Given the description of an element on the screen output the (x, y) to click on. 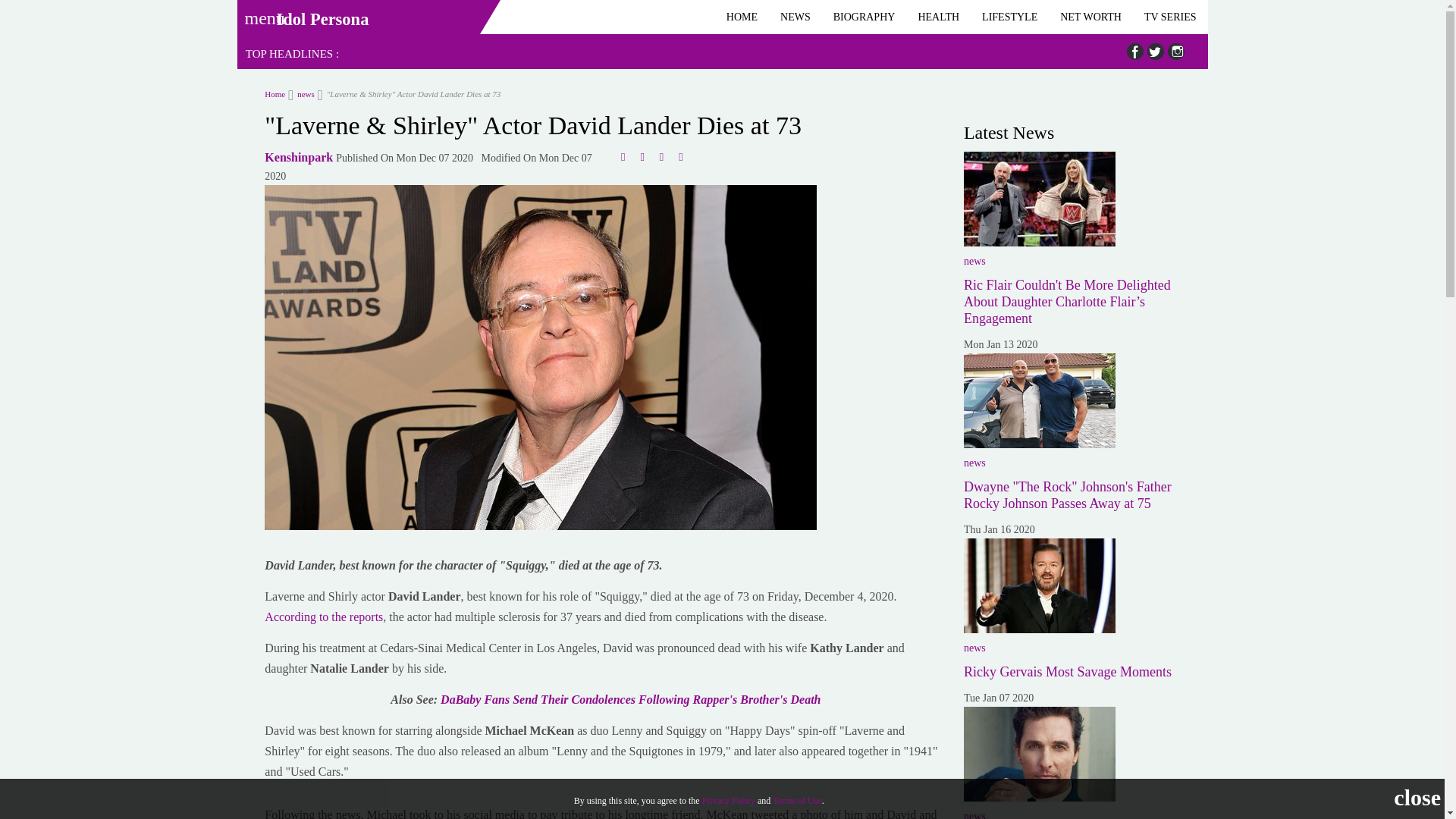
According to the reports (323, 616)
Kenshinpark (298, 156)
HEALTH (938, 17)
Ricky Gervais Most Savage Moments (1039, 585)
BIOGRAPHY (864, 17)
Idol Persona (322, 18)
HOME (741, 17)
TV SERIES (1170, 17)
LIFESTYLE (1009, 17)
Privacy Policy (728, 800)
NET WORTH (1090, 17)
menu (259, 13)
news (301, 93)
